Given the description of an element on the screen output the (x, y) to click on. 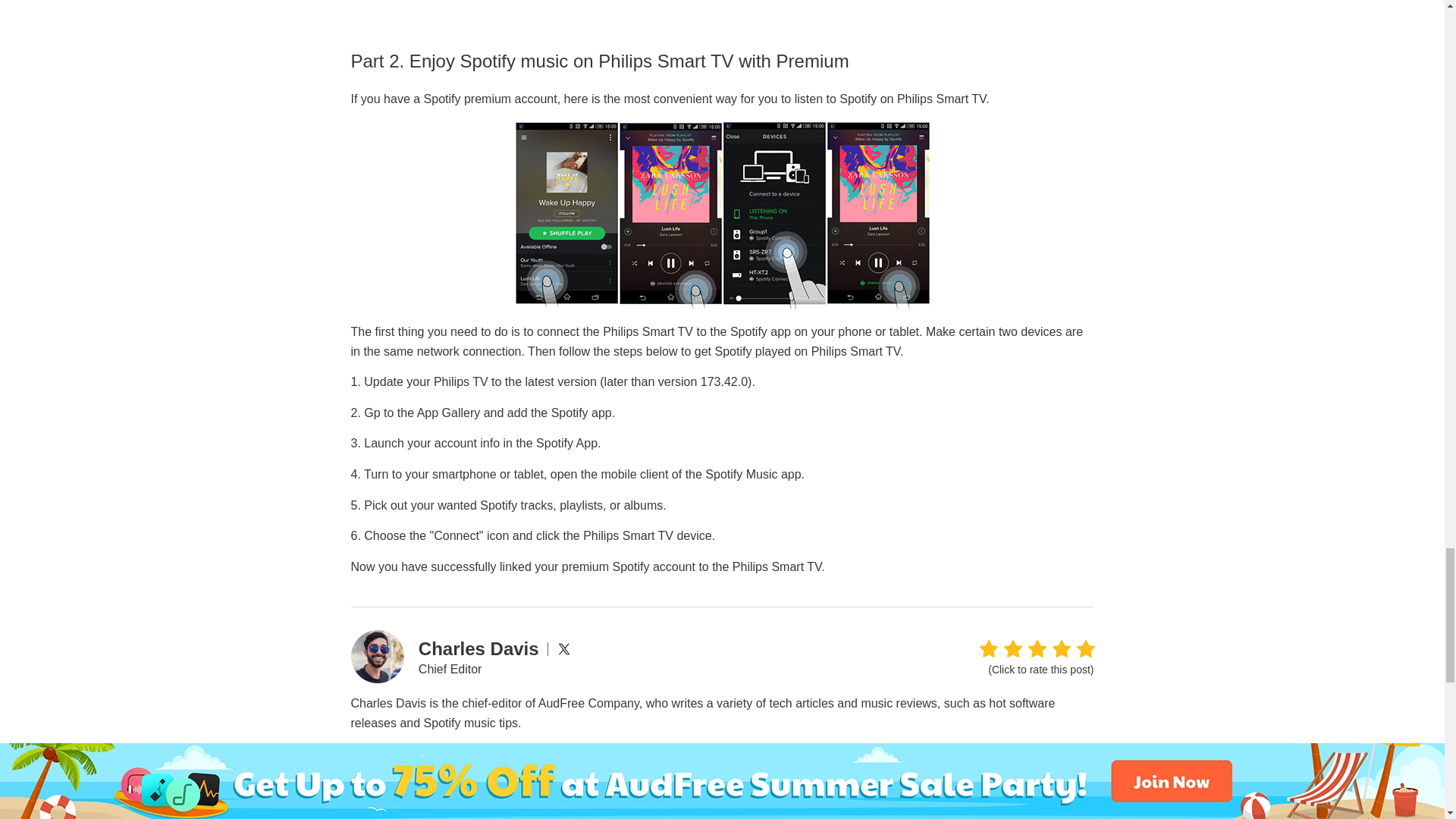
Charles Davis (478, 648)
